Given the description of an element on the screen output the (x, y) to click on. 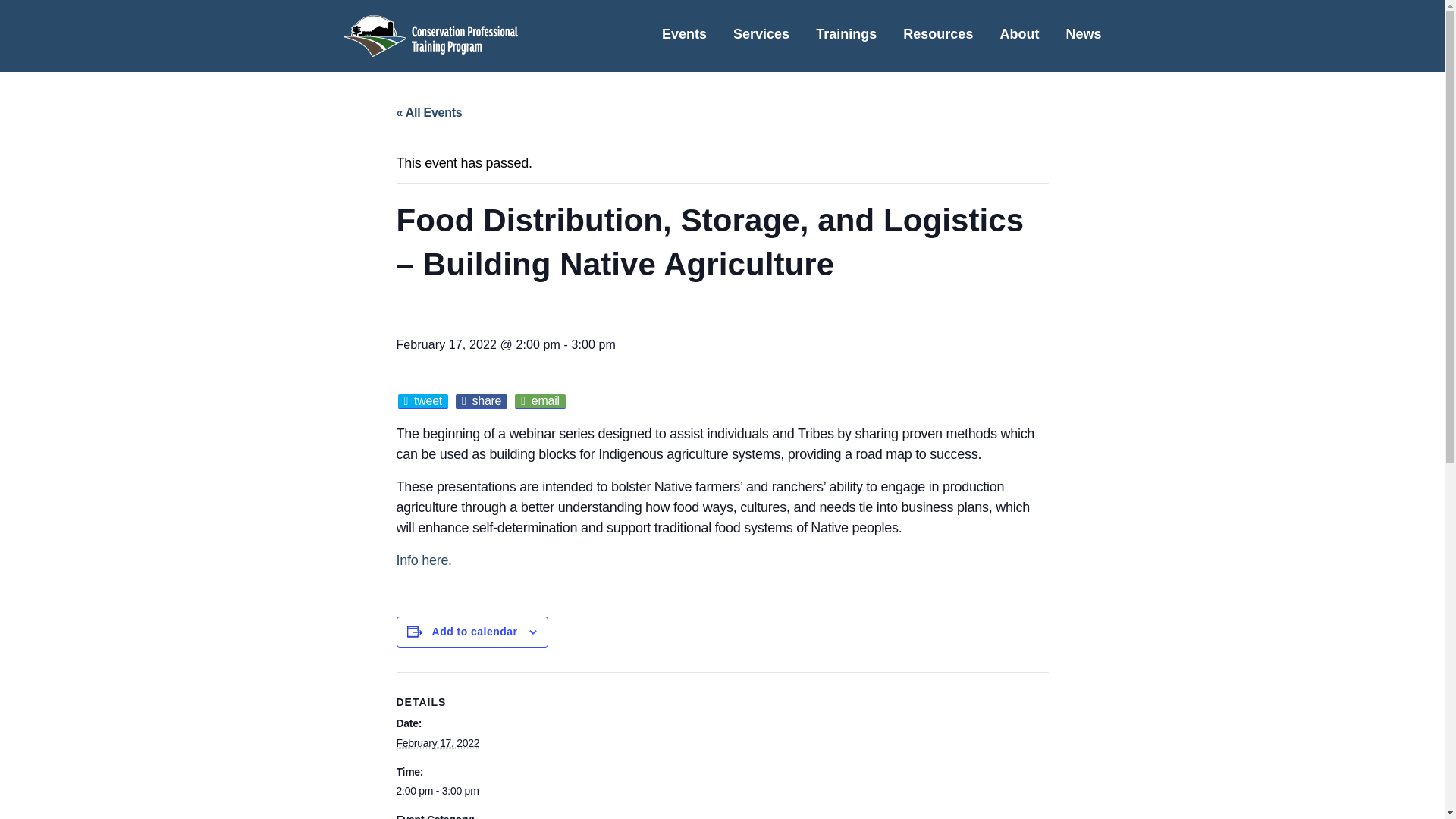
2022-02-17 (459, 790)
Trainings (845, 35)
About (1018, 35)
Services (761, 35)
Resources (937, 35)
share (480, 400)
Events (684, 35)
Send this article to a friend! (539, 400)
News (1082, 35)
Add to calendar (475, 631)
